Given the description of an element on the screen output the (x, y) to click on. 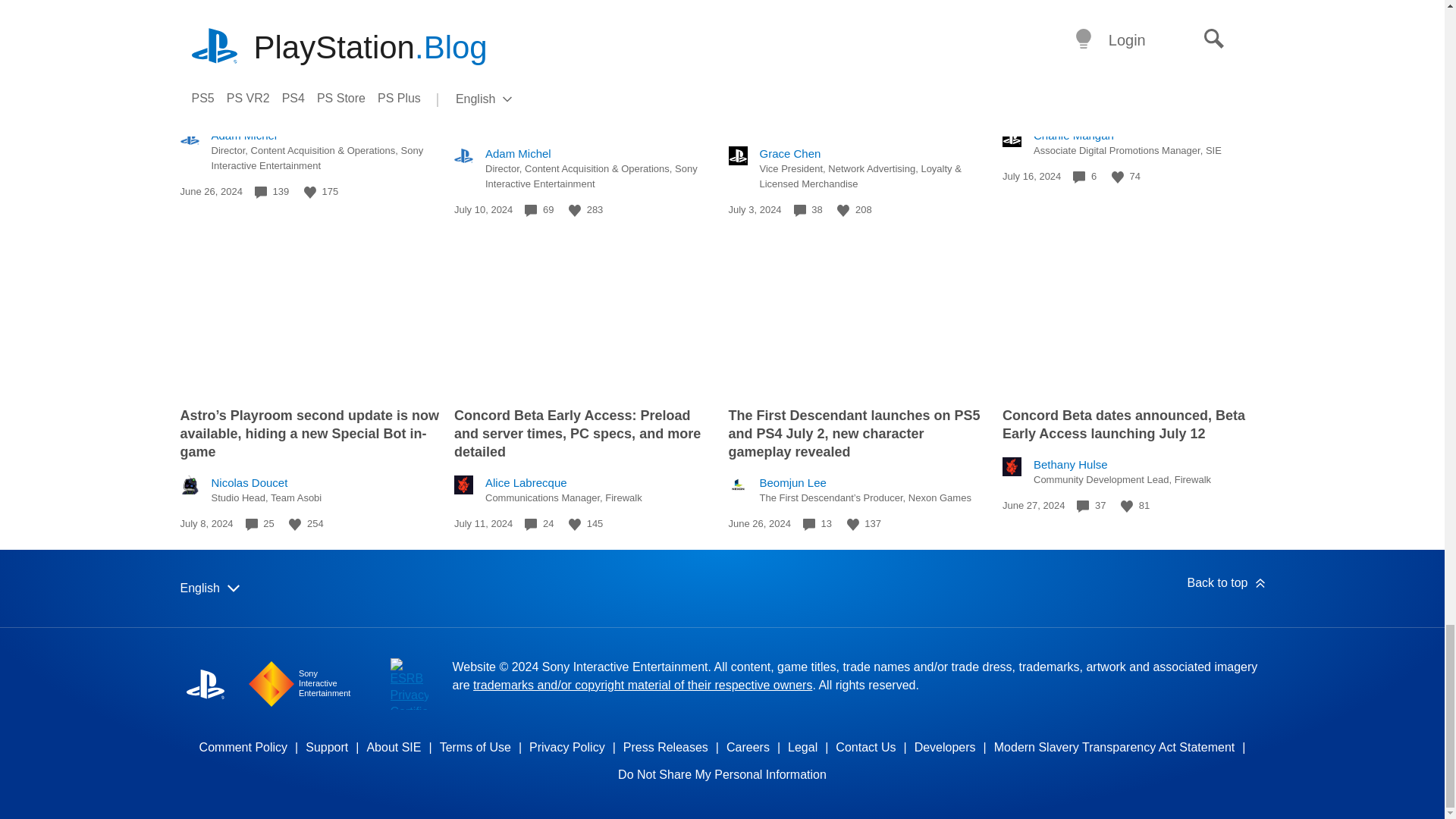
Like this (574, 210)
Like this (294, 524)
Like this (842, 210)
Like this (1118, 177)
Like this (309, 192)
